Given the description of an element on the screen output the (x, y) to click on. 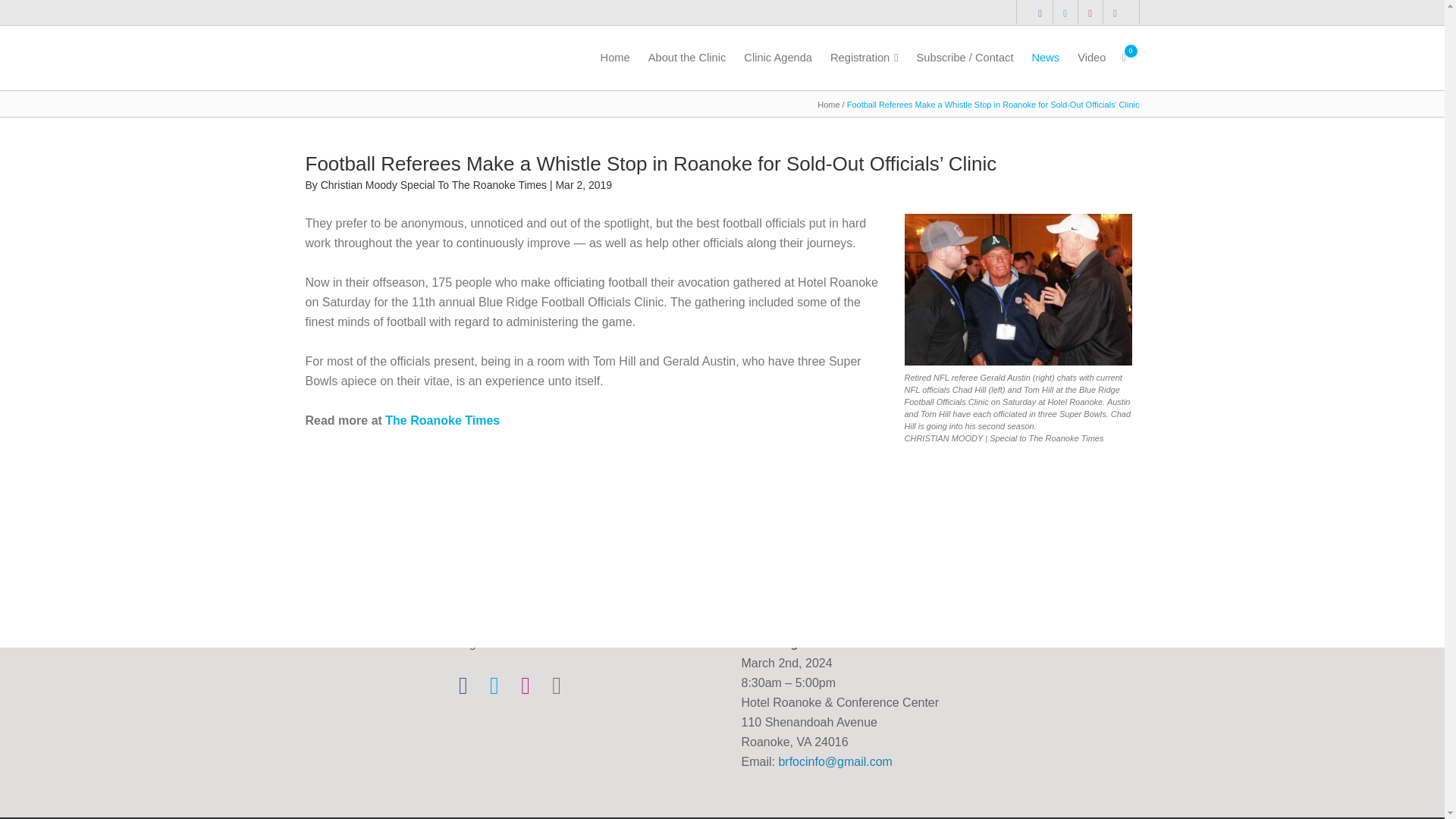
Home (828, 103)
About the Clinic (687, 57)
Registration (864, 57)
Clinic Agenda (778, 57)
The Roanoke Times (442, 420)
